Given the description of an element on the screen output the (x, y) to click on. 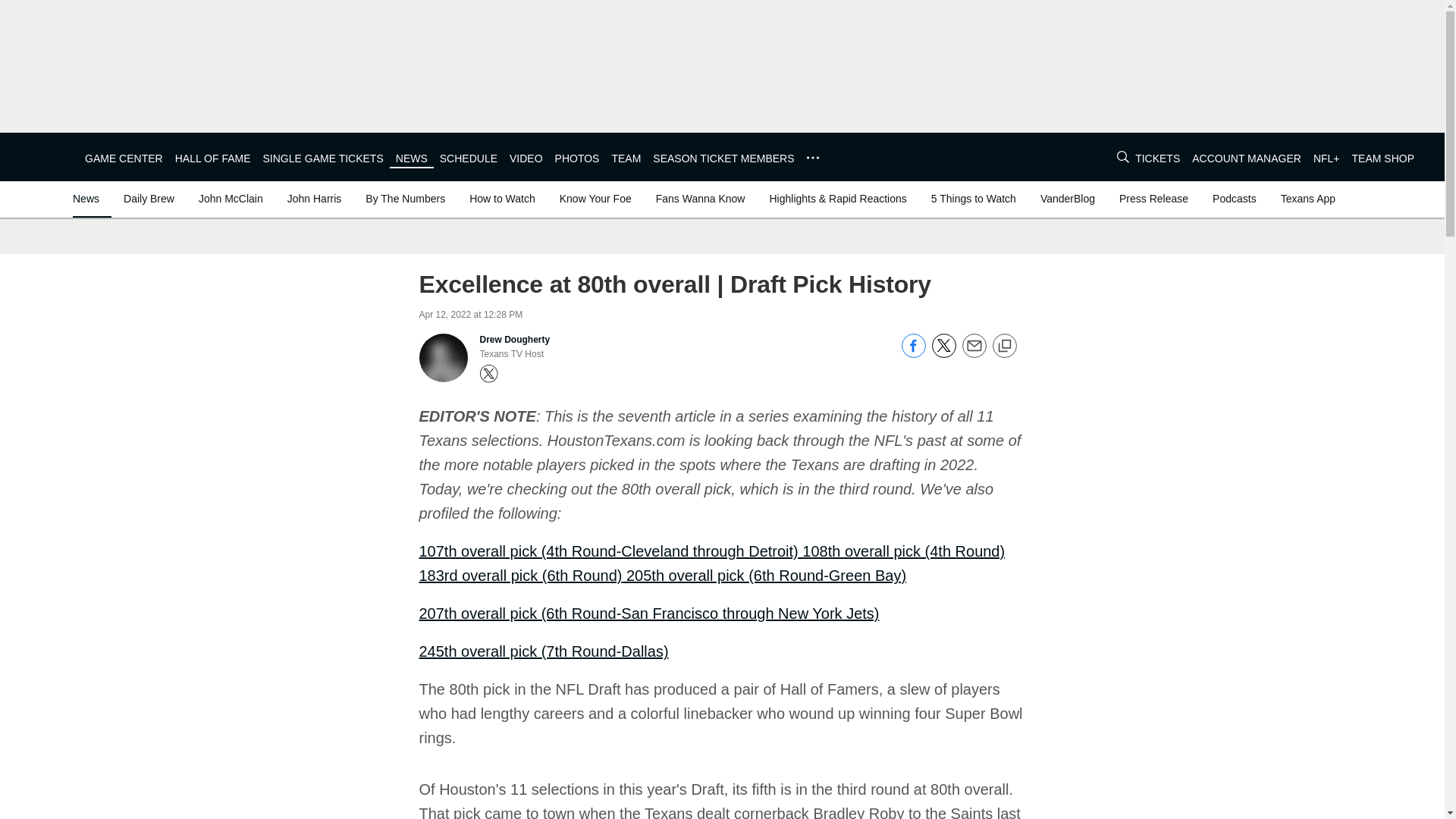
Know Your Foe (595, 198)
SCHEDULE (468, 158)
VIDEO (526, 158)
SEASON TICKET MEMBERS (722, 158)
John McClain (230, 198)
TEAM (625, 158)
SINGLE GAME TICKETS (323, 158)
News (88, 198)
John Harris (314, 198)
Press Release (1153, 198)
VIDEO (526, 158)
HALL OF FAME (212, 158)
NEWS (412, 158)
TICKETS (1157, 158)
By The Numbers (405, 198)
